Given the description of an element on the screen output the (x, y) to click on. 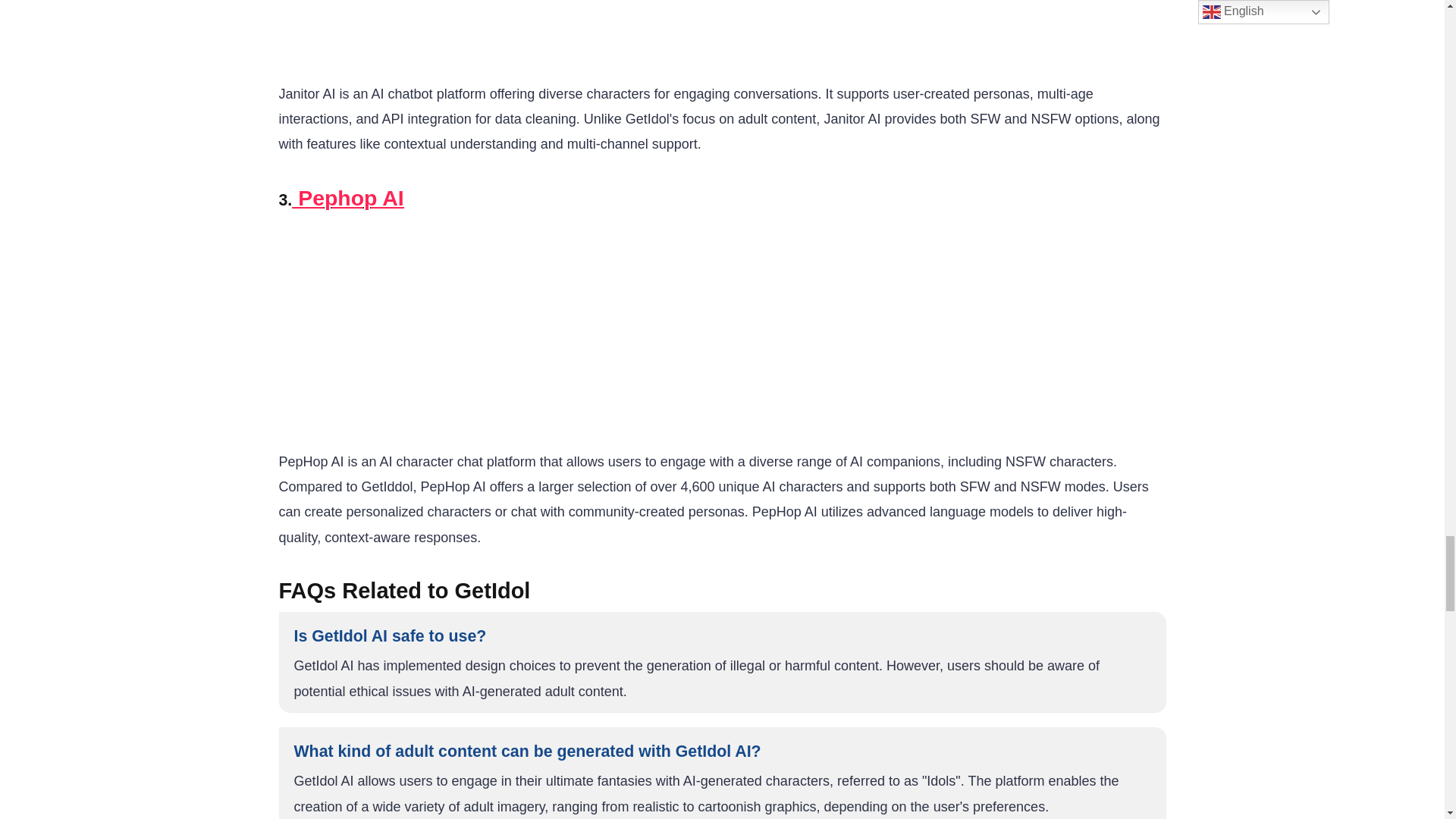
Pephop AI (347, 197)
